Given the description of an element on the screen output the (x, y) to click on. 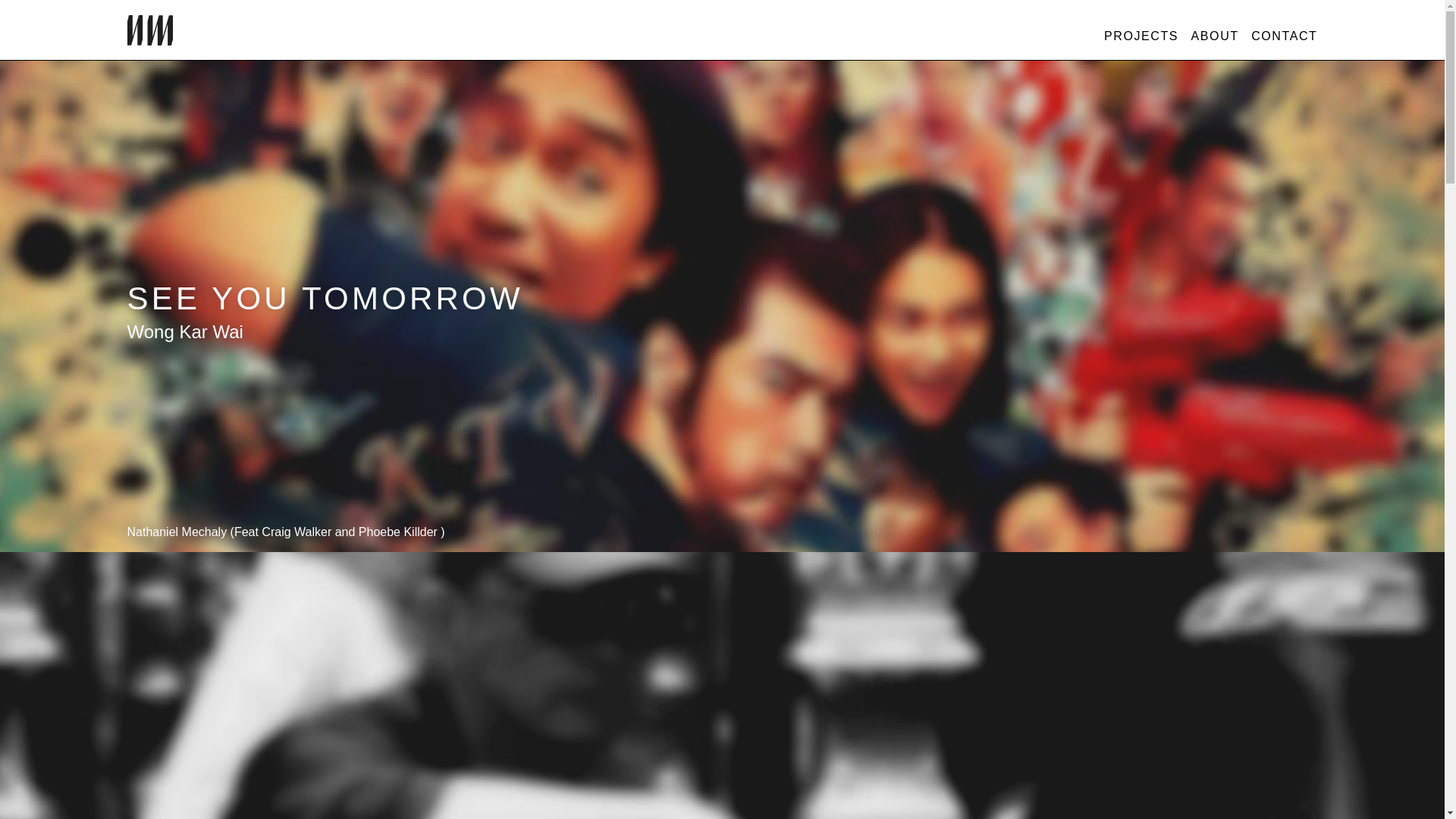
CONTACT (1283, 35)
PROJECTS (1140, 35)
ABOUT (1215, 35)
